Given the description of an element on the screen output the (x, y) to click on. 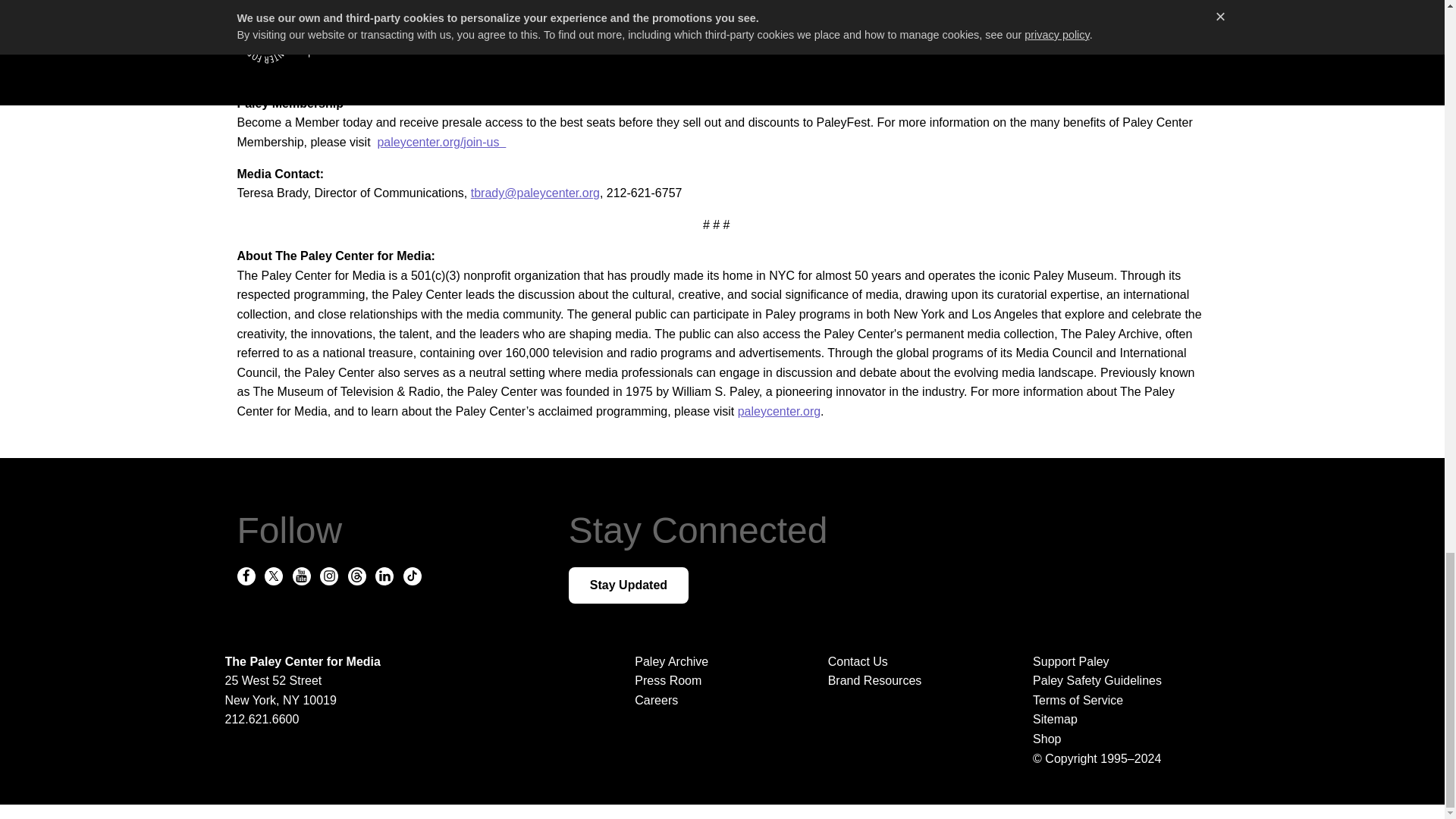
Press Room (667, 680)
Terms of Service (1119, 700)
Shop (1119, 739)
Twitter (1066, 44)
Contact Us (858, 661)
LinkedIn (272, 64)
Facebook (827, 44)
paleycenter.org (779, 410)
YouTube (1180, 44)
Paley Archive (670, 661)
Paley Safety Guidelines (1119, 680)
Careers (656, 699)
paleyfest.org (731, 44)
Sitemap (1119, 719)
Support Paley (1119, 661)
